Given the description of an element on the screen output the (x, y) to click on. 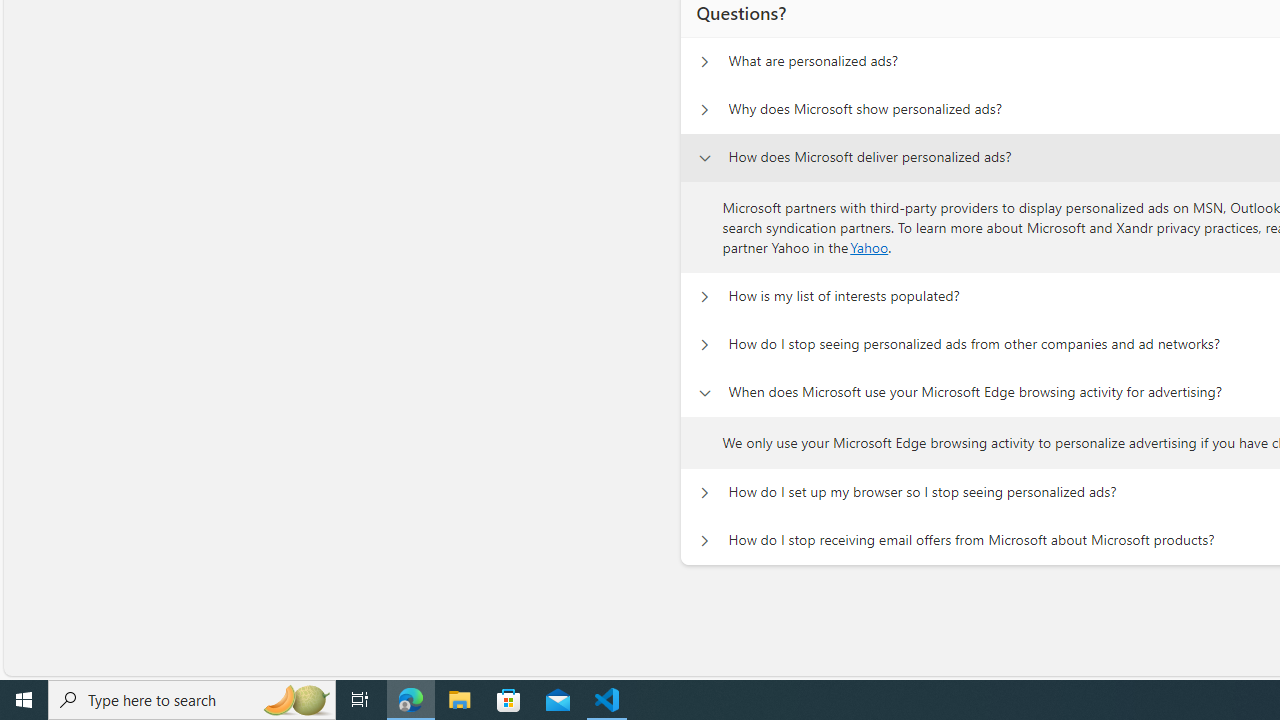
Questions? Why does Microsoft show personalized ads? (704, 110)
Questions? How does Microsoft deliver personalized ads? (703, 158)
Yahoo (869, 246)
Questions? What are personalized ads? (704, 62)
Questions? How is my list of interests populated? (704, 296)
